Given the description of an element on the screen output the (x, y) to click on. 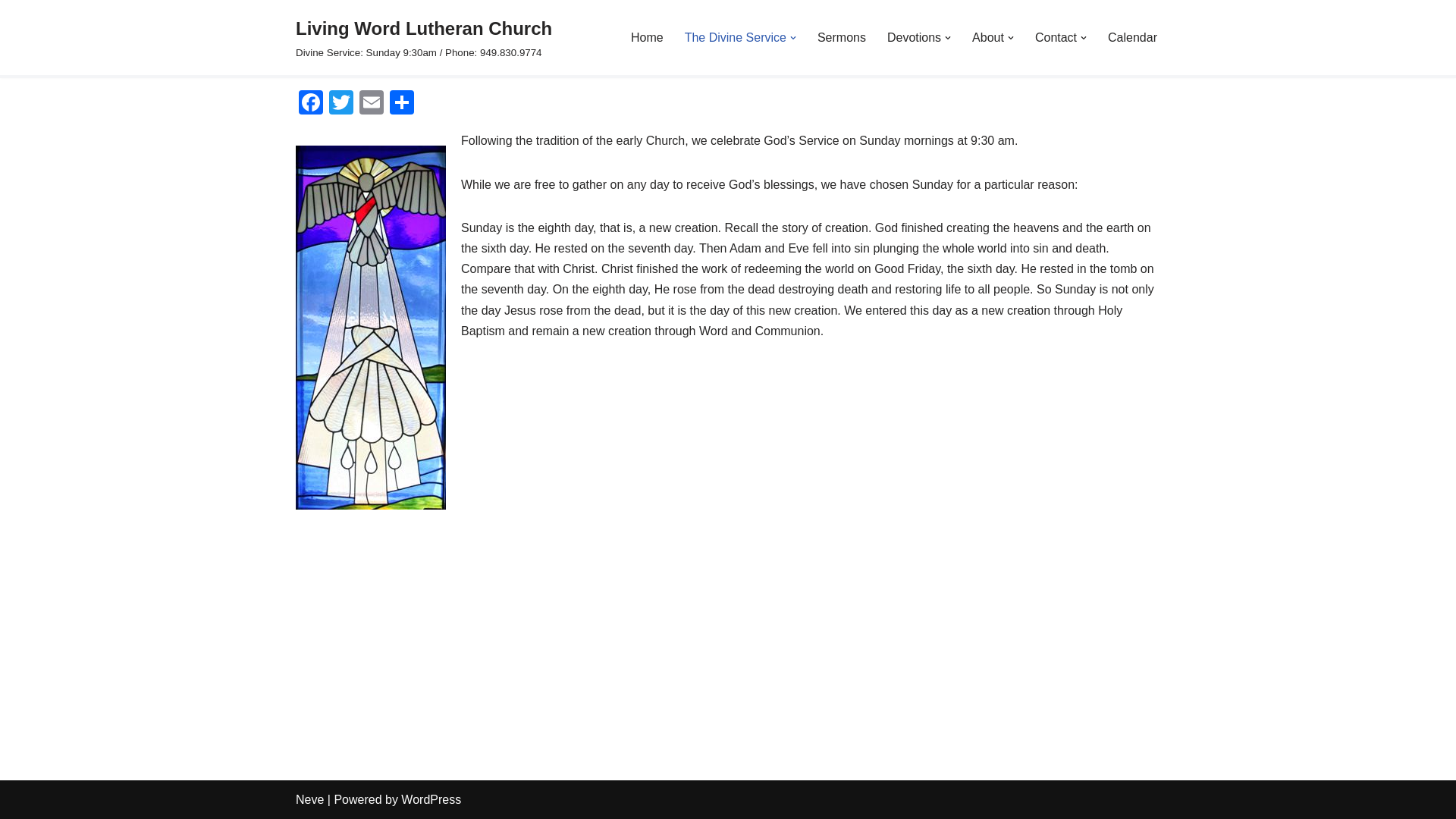
Calendar (1132, 37)
Email (371, 103)
Home (646, 37)
Facebook (310, 103)
Sermons (841, 37)
The Divine Service (735, 37)
Twitter (341, 103)
Devotions (913, 37)
About (988, 37)
Skip to content (11, 31)
Sermons (841, 37)
Contact (1056, 37)
